Given the description of an element on the screen output the (x, y) to click on. 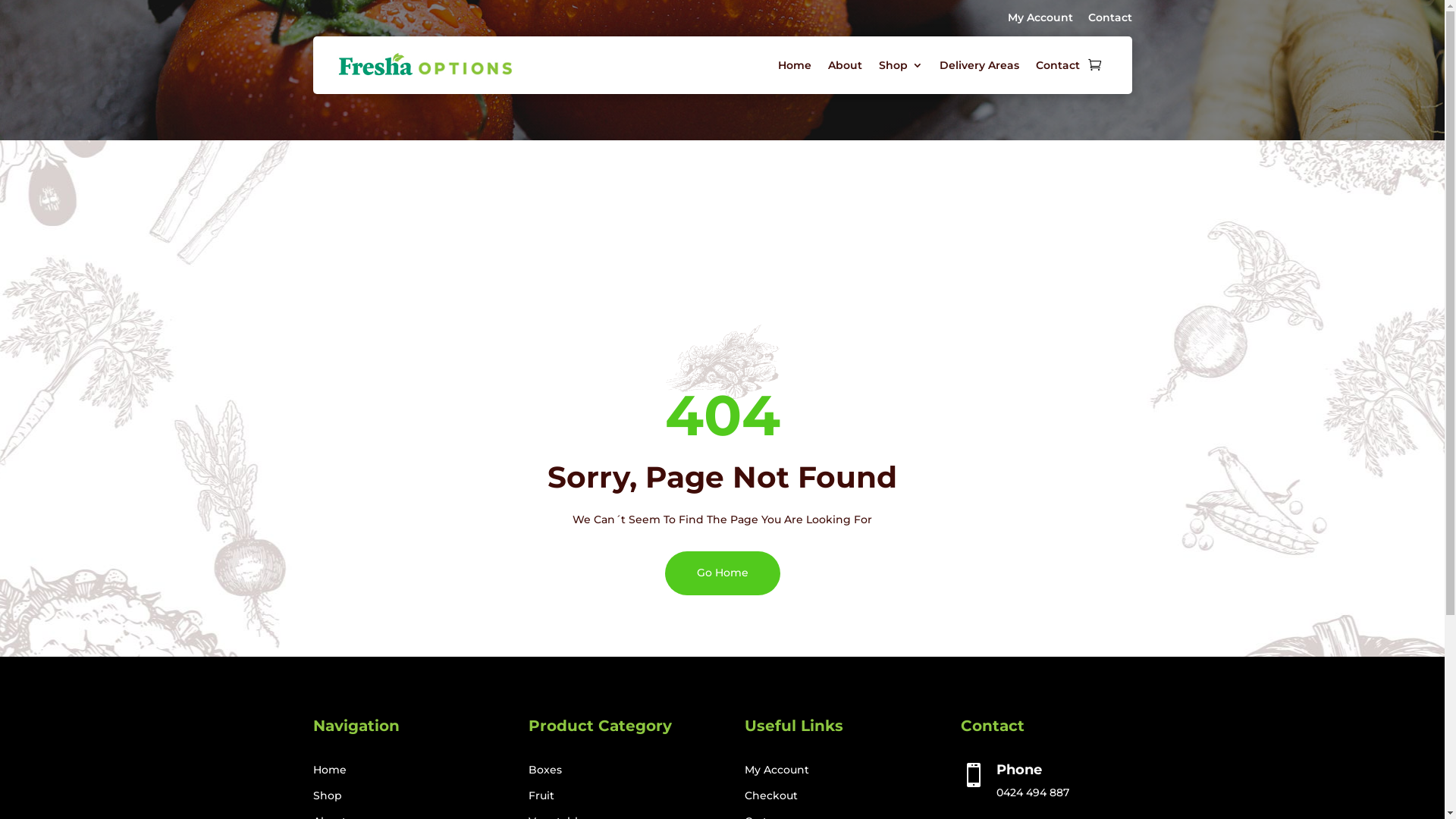
Home Element type: text (328, 769)
Fruit Element type: text (541, 795)
Shop Element type: text (326, 795)
Home Element type: text (794, 65)
Shop Element type: text (900, 65)
Contact Element type: text (1057, 65)
My Account Element type: text (1039, 17)
Contact Element type: text (1109, 17)
Delivery Areas Element type: text (978, 65)
Boxes Element type: text (544, 769)
My Account Element type: text (776, 769)
Checkout Element type: text (770, 795)
Go Home Element type: text (721, 572)
Phone Element type: text (1018, 769)
About Element type: text (845, 65)
